Given the description of an element on the screen output the (x, y) to click on. 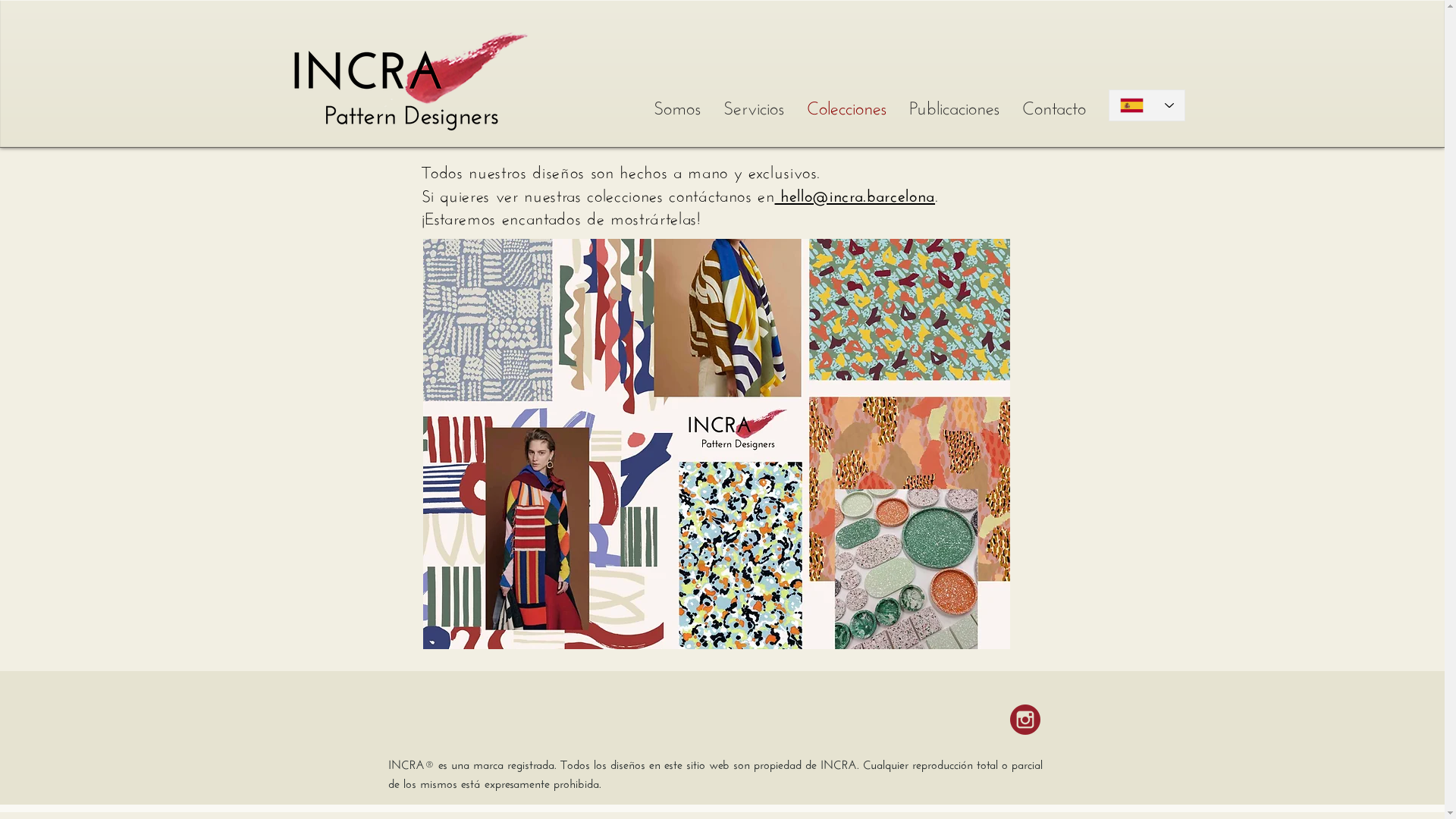
Somos Element type: text (676, 105)
Contacto Element type: text (1053, 105)
Servicios Element type: text (752, 105)
Publicaciones Element type: text (953, 105)
hello@incra.barcelona Element type: text (855, 194)
Colecciones Element type: text (845, 105)
